Given the description of an element on the screen output the (x, y) to click on. 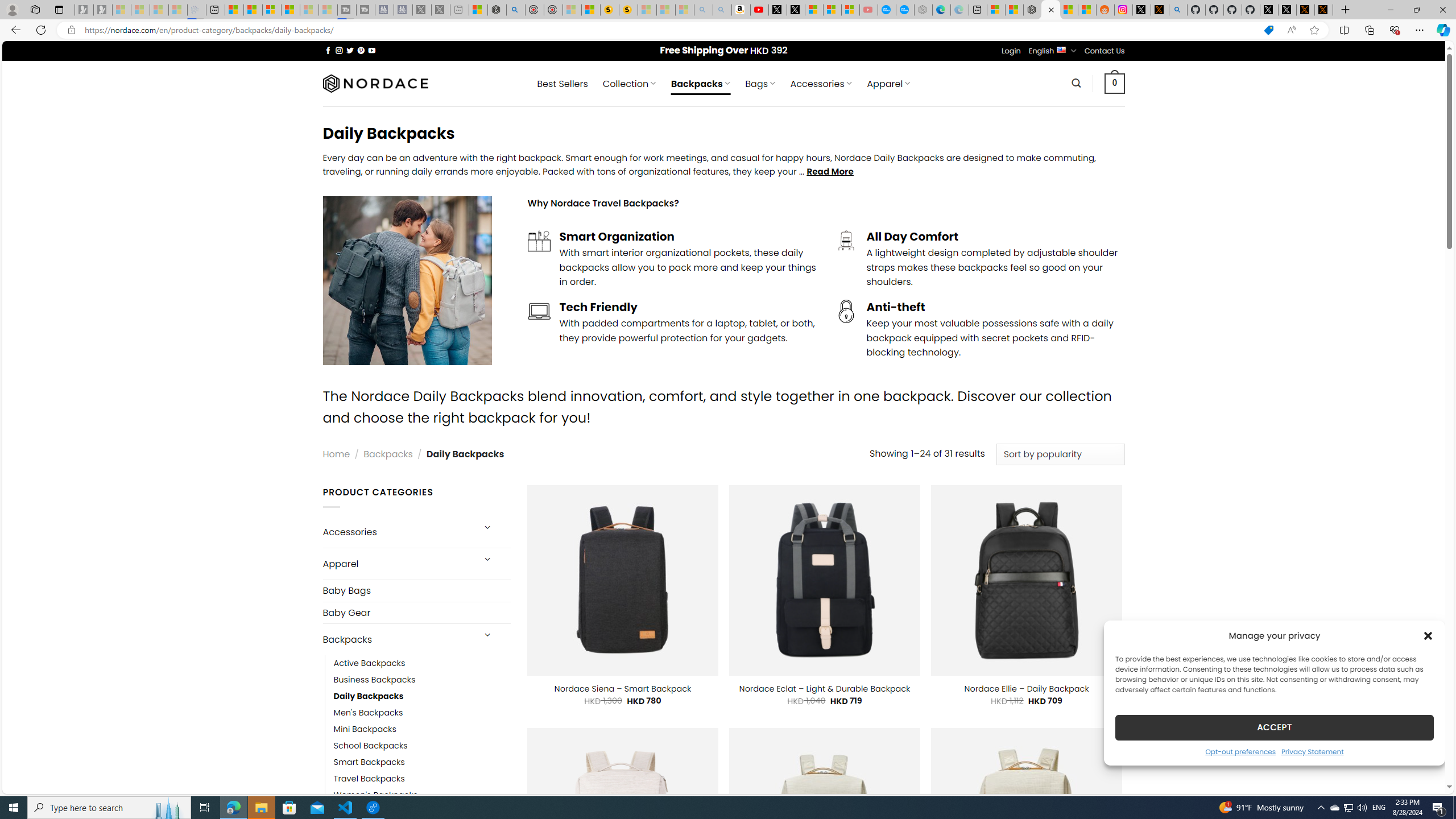
Women's Backpacks (422, 795)
Class: cmplz-close (1428, 635)
Nordace - Daily Backpacks (1050, 9)
Follow on Instagram (338, 49)
ACCEPT (1274, 727)
Baby Gear (416, 612)
